Given the description of an element on the screen output the (x, y) to click on. 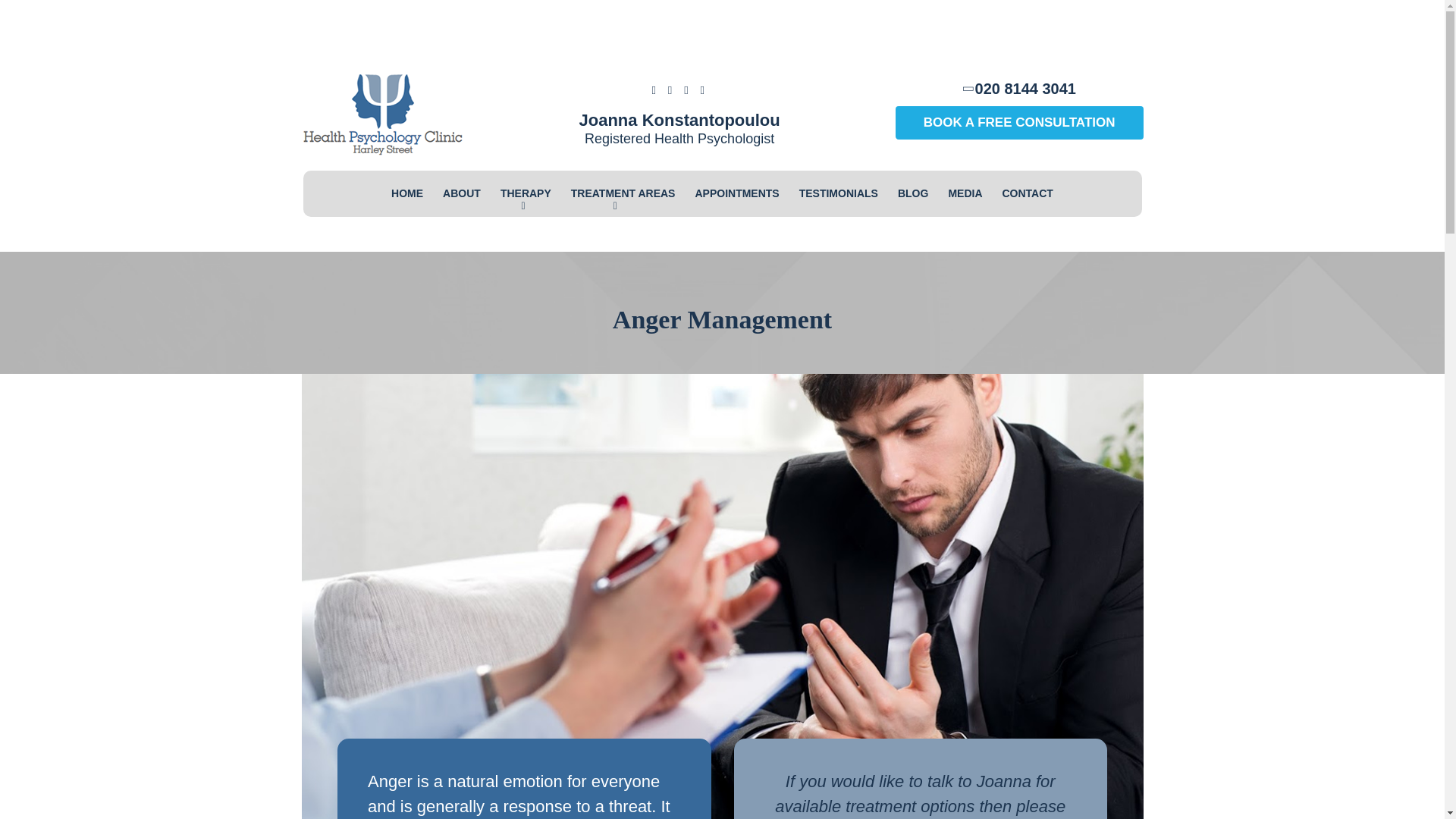
BOOK A FREE CONSULTATION (1018, 122)
THERAPY (525, 193)
 020 8144 3041 (1018, 88)
ABOUT (461, 193)
HOME (406, 193)
APPOINTMENTS (736, 193)
TREATMENT AREAS (622, 193)
